Given the description of an element on the screen output the (x, y) to click on. 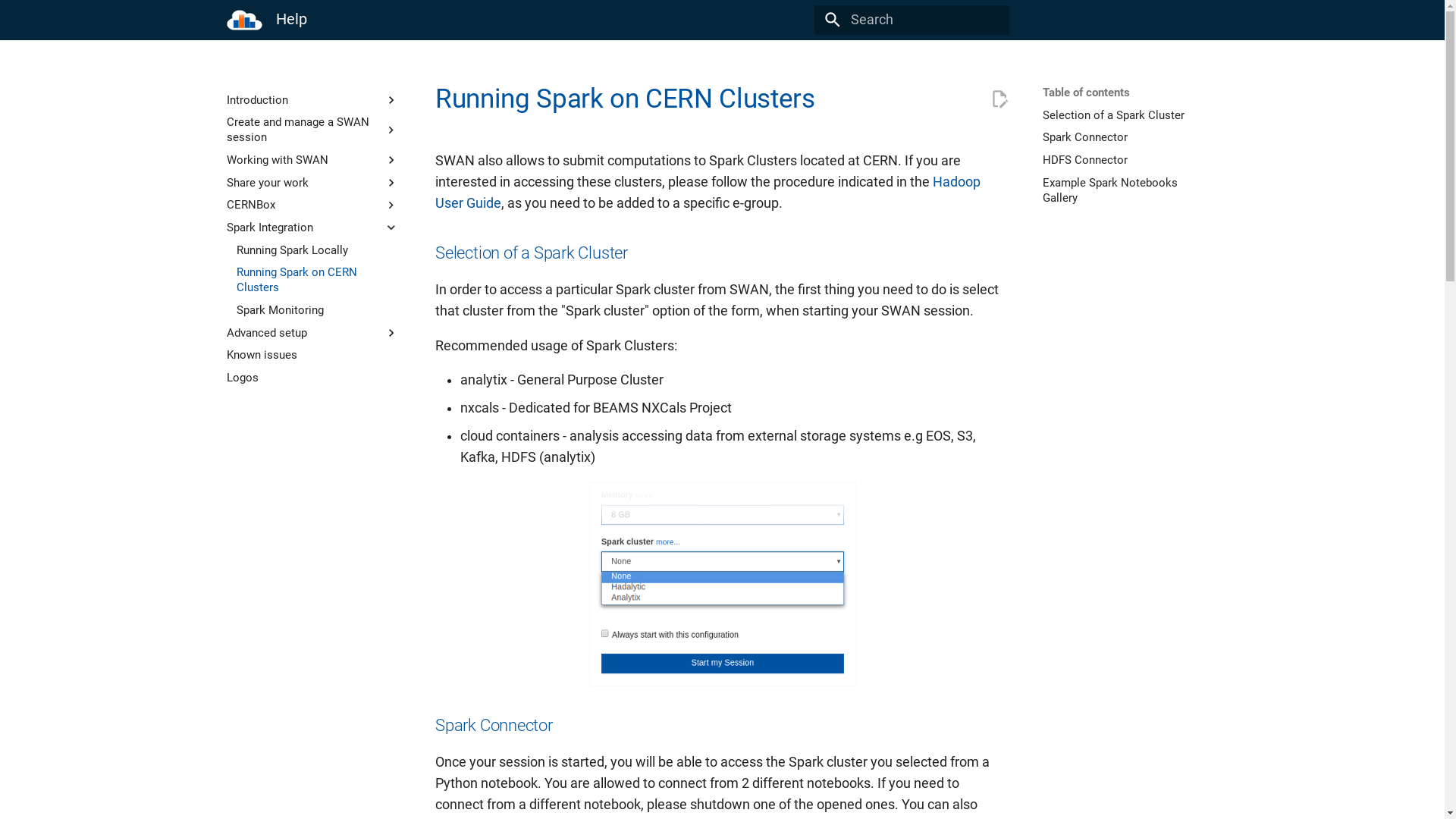
Hadoop User Guide Element type: text (707, 192)
Running Spark on CERN Clusters Element type: text (317, 279)
Spark Connector Element type: text (1128, 136)
Example Spark Notebooks Gallery Element type: text (1128, 190)
Running Spark Locally Element type: text (317, 249)
Logos Element type: text (312, 377)
Selection of a Spark Cluster Element type: text (1128, 114)
Help Element type: hover (244, 19)
Spark Monitoring Element type: text (317, 309)
HDFS Connector Element type: text (1128, 159)
Edit this page Element type: hover (999, 98)
Choose Spark Cluster Element type: hover (721, 583)
Known issues Element type: text (312, 354)
